Given the description of an element on the screen output the (x, y) to click on. 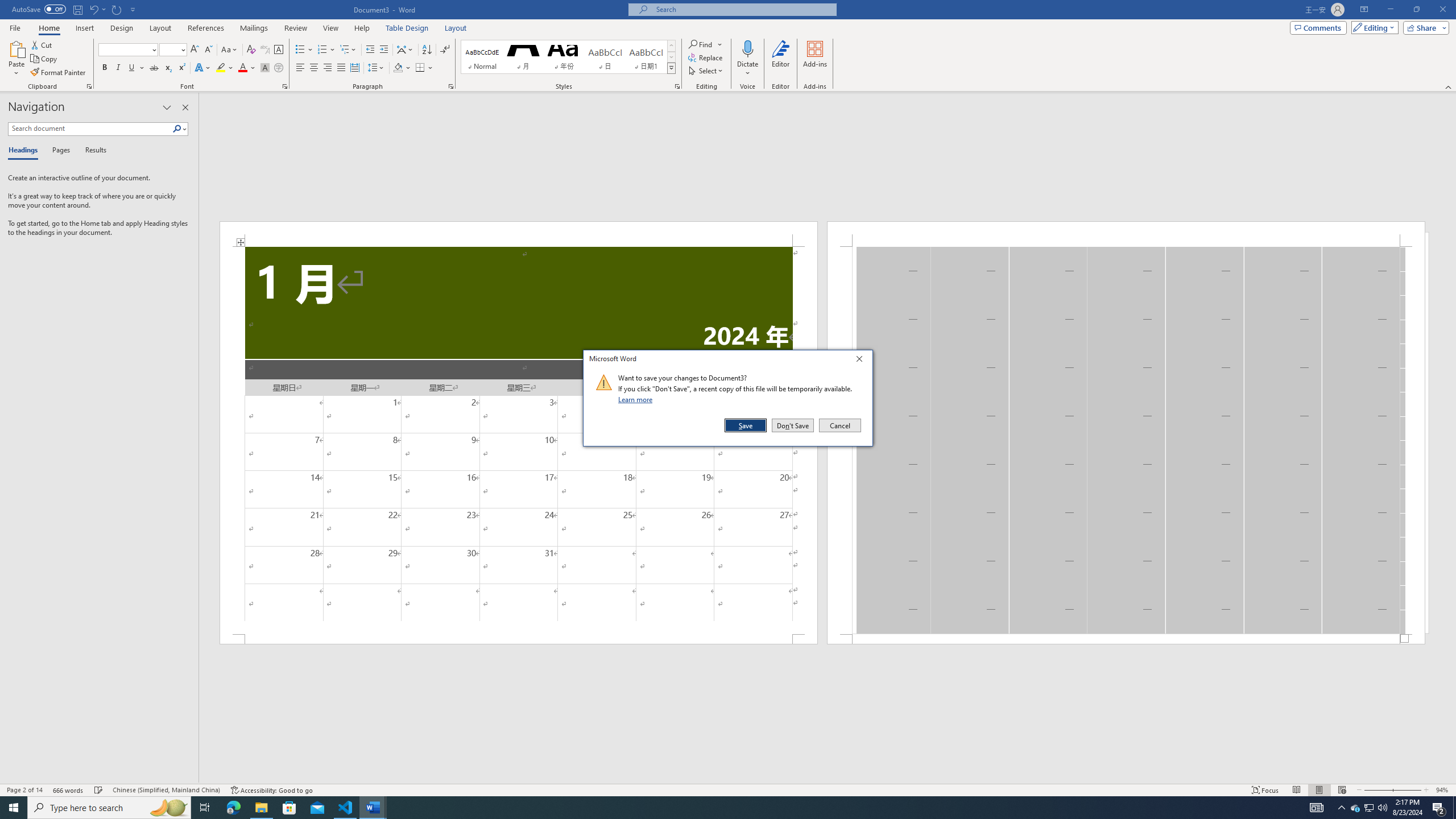
Repeat Distribute Para (117, 9)
Replace... (705, 56)
Align Right (327, 67)
AutomationID: QuickStylesGallery (568, 56)
Justify (340, 67)
Microsoft Edge (233, 807)
